Given the description of an element on the screen output the (x, y) to click on. 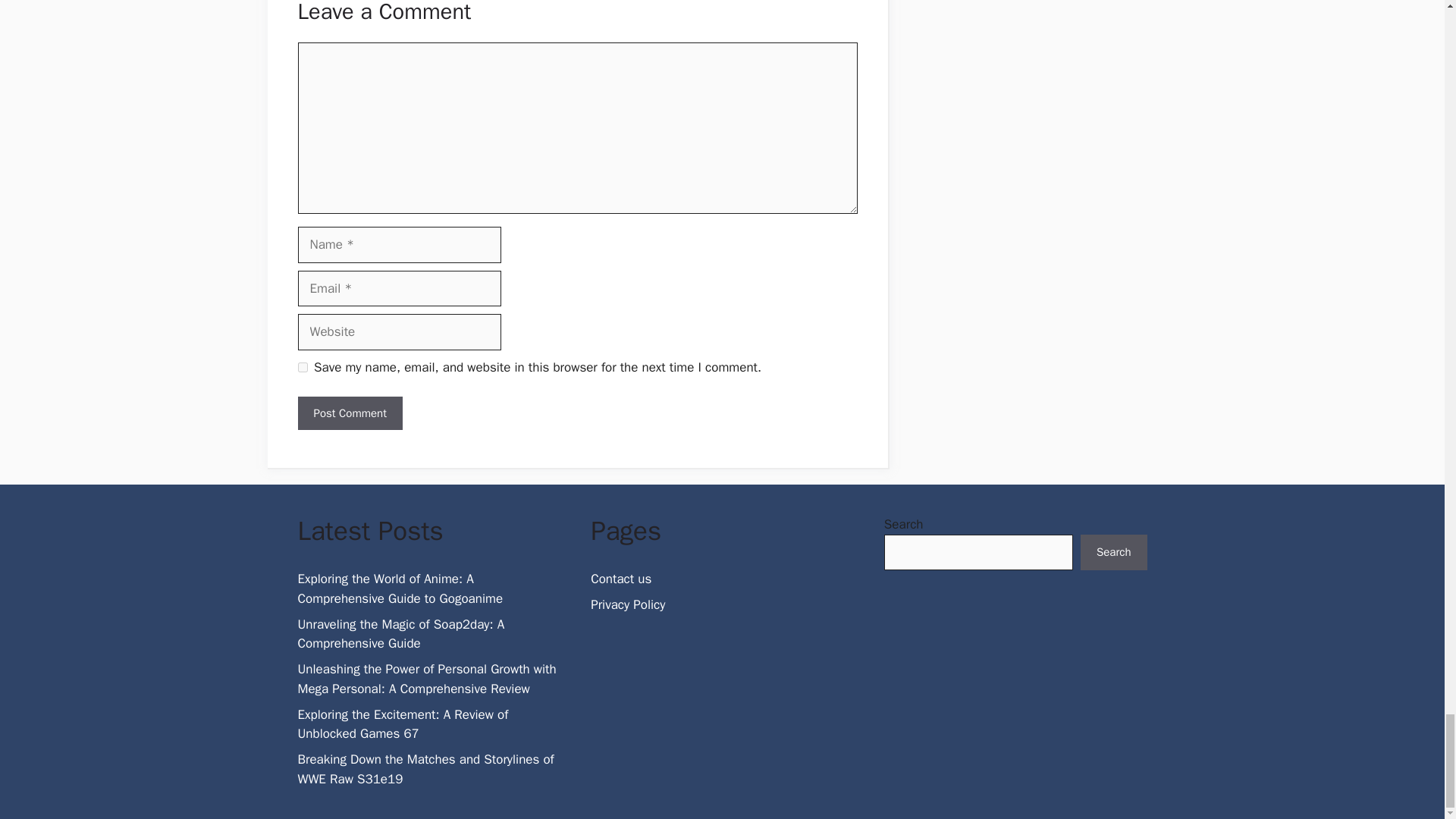
Post Comment (349, 413)
Post Comment (349, 413)
yes (302, 367)
Privacy Policy (628, 604)
Search (1113, 552)
Unraveling the Magic of Soap2day: A Comprehensive Guide (400, 633)
Contact us (620, 578)
Exploring the Excitement: A Review of Unblocked Games 67 (402, 724)
Breaking Down the Matches and Storylines of WWE Raw S31e19 (425, 769)
